Given the description of an element on the screen output the (x, y) to click on. 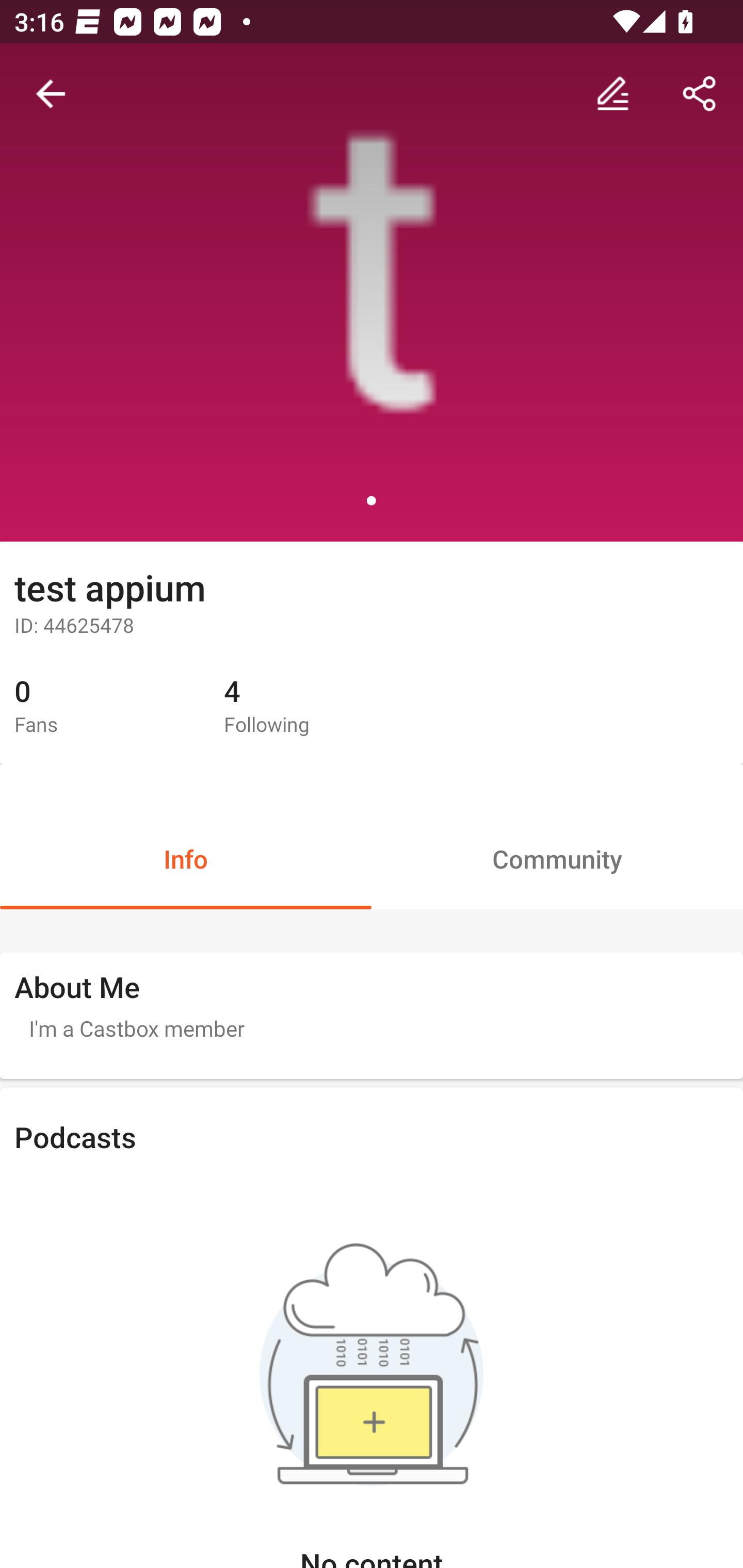
Navigate up (50, 93)
Edit (612, 93)
Share (699, 93)
0 Fans (104, 707)
4 Following (313, 707)
Info (185, 858)
Community (557, 858)
